Given the description of an element on the screen output the (x, y) to click on. 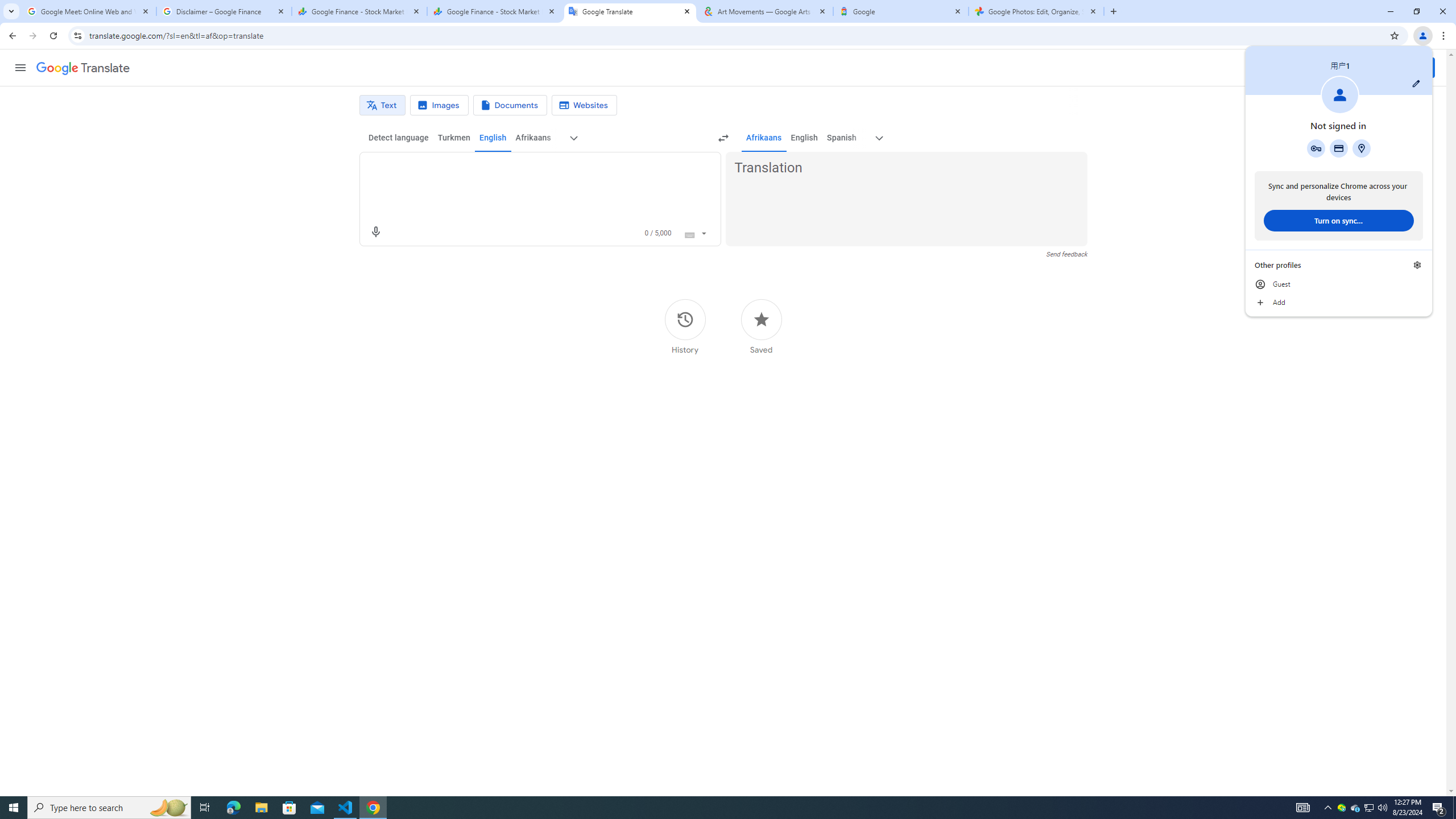
Manage profiles (1355, 807)
Search highlights icon opens search home window (1417, 265)
File Explorer (167, 807)
Task View (261, 807)
Spanish (204, 807)
Text translation (840, 137)
Google Password Manager (382, 105)
Saved (1315, 148)
Google Translate (761, 326)
Google Translate (82, 68)
